Given the description of an element on the screen output the (x, y) to click on. 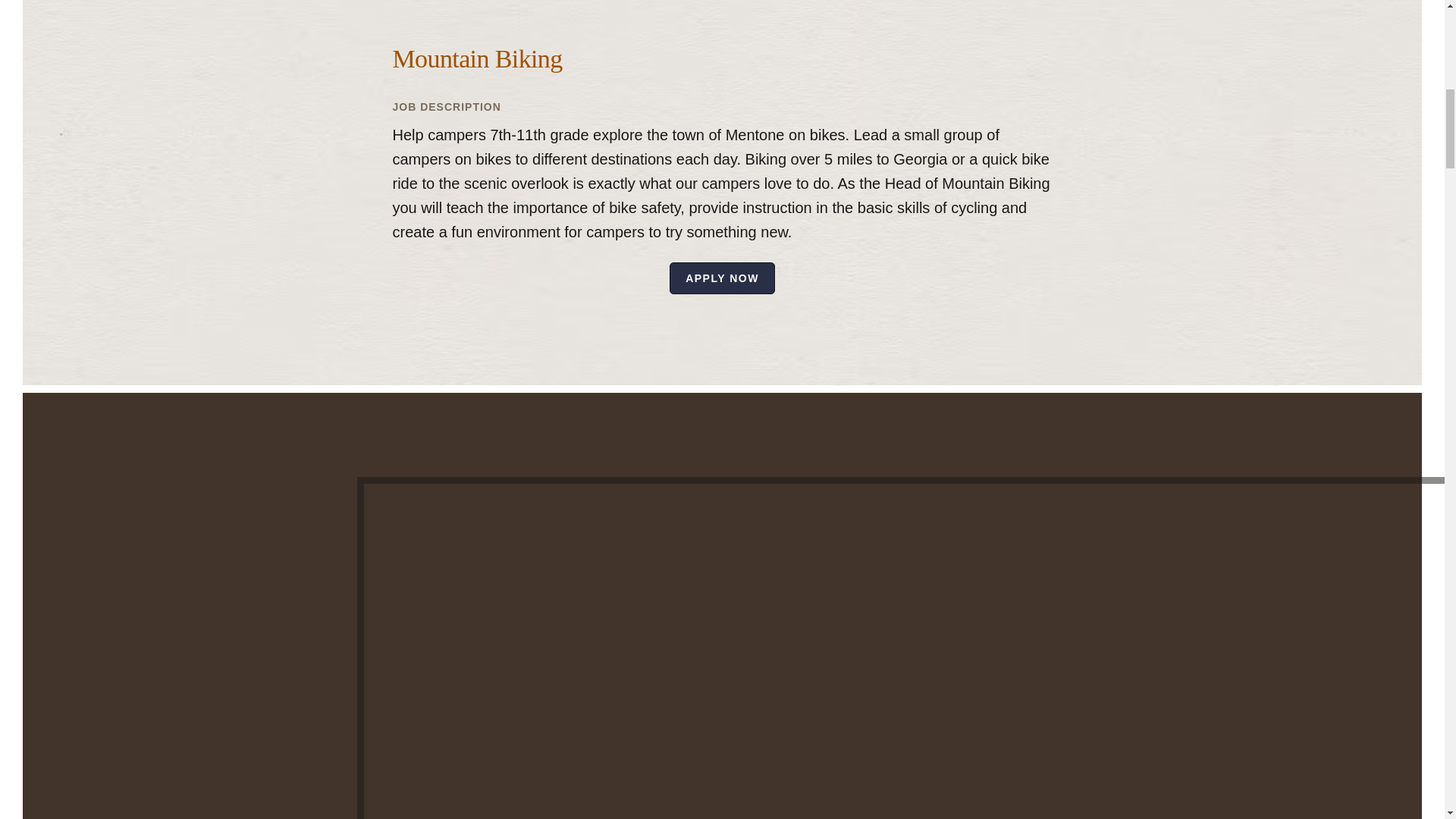
APPLY NOW (721, 278)
